Given the description of an element on the screen output the (x, y) to click on. 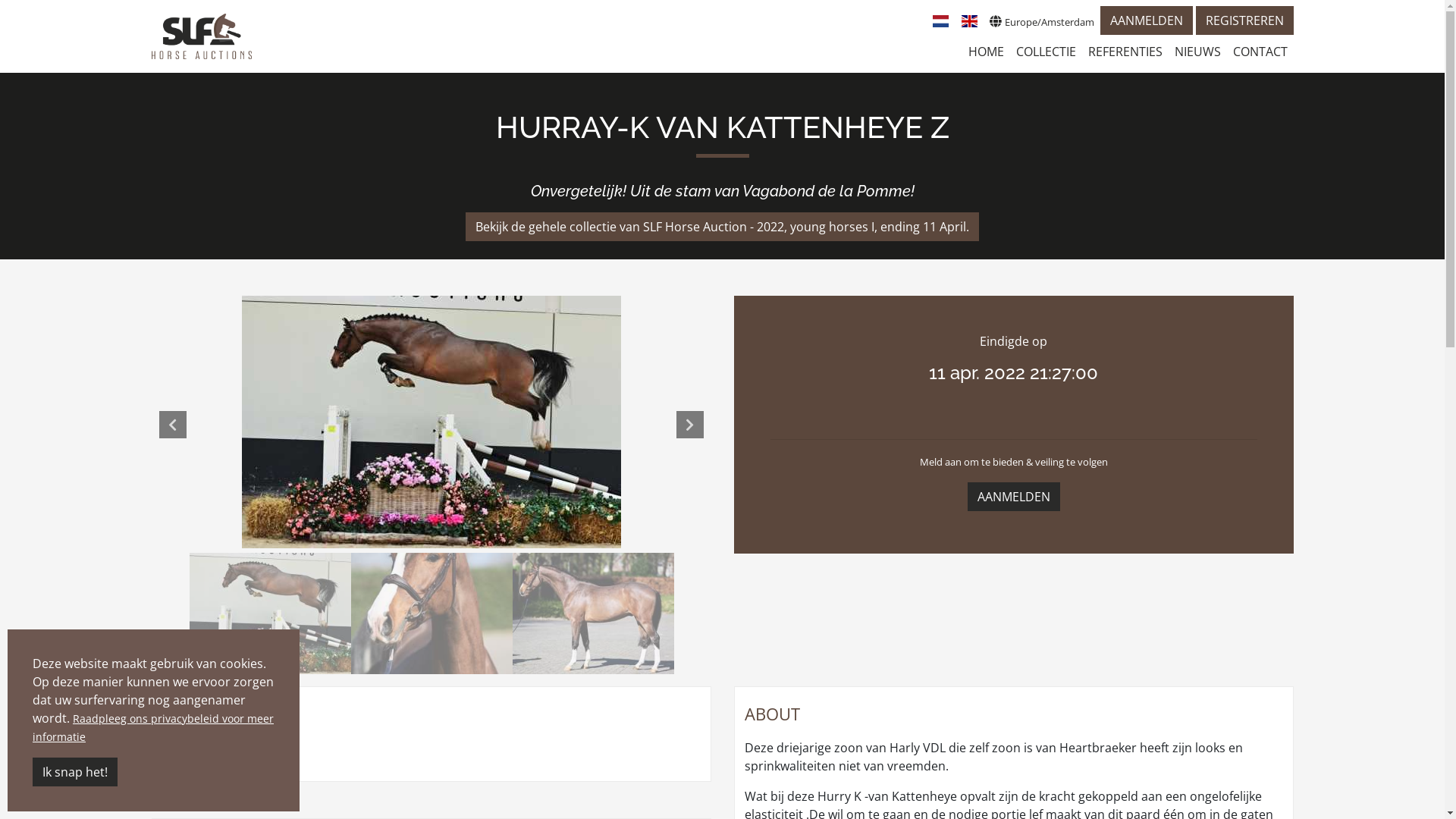
AANMELDEN Element type: text (1145, 20)
COLLECTIE Element type: text (1046, 51)
HOME Element type: text (985, 51)
REGISTREREN Element type: text (1243, 20)
Previous Element type: text (172, 424)
Europe/Amsterdam Element type: text (1040, 21)
REFERENTIES Element type: text (1124, 51)
Ik snap het! Element type: text (74, 771)
AANMELDEN Element type: text (1013, 496)
Next Element type: text (689, 424)
NIEUWS Element type: text (1196, 51)
Raadpleeg ons privacybeleid voor meer informatie Element type: text (152, 727)
CONTACT Element type: text (1259, 51)
